Given the description of an element on the screen output the (x, y) to click on. 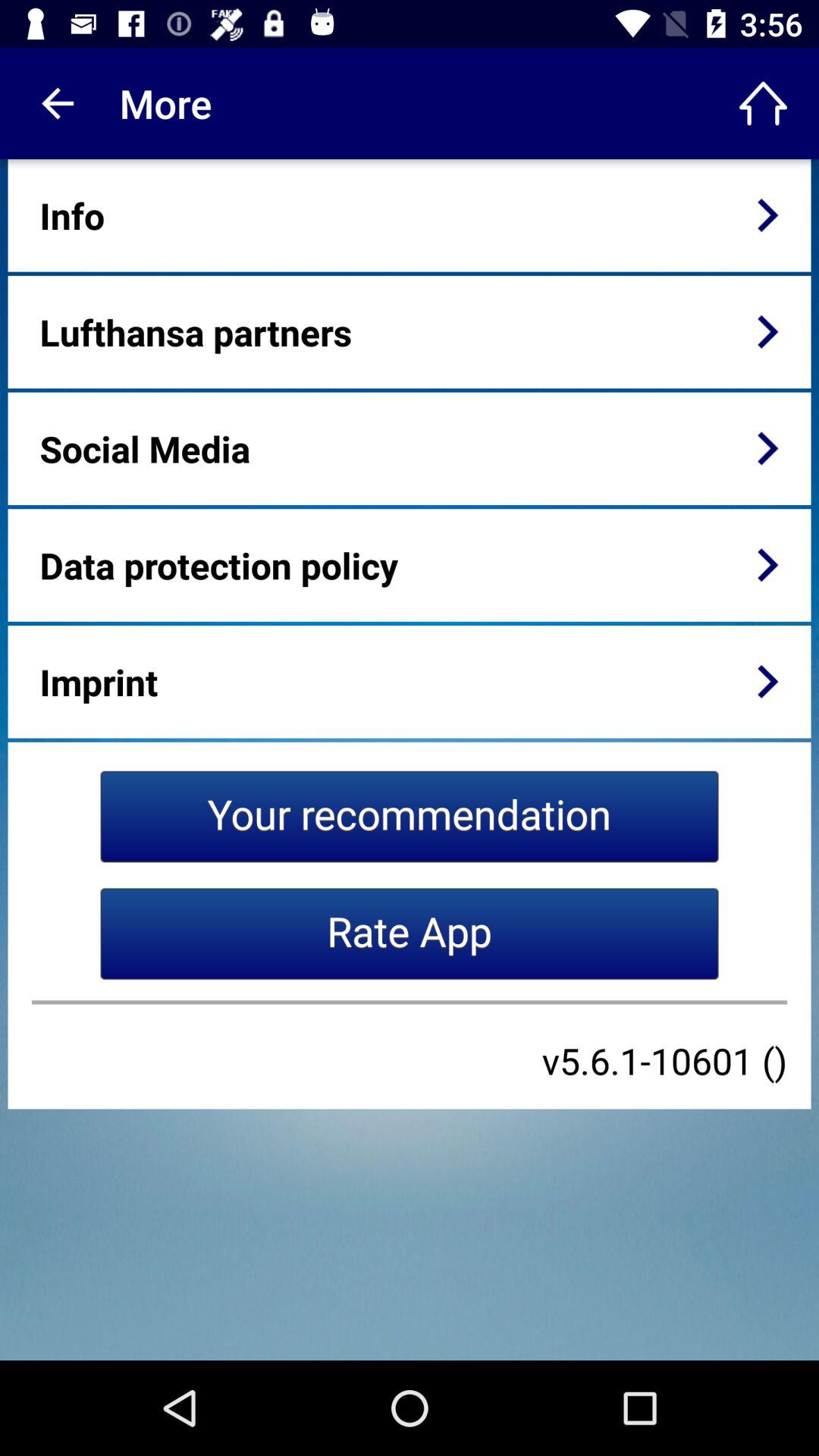
press icon to the right of the more icon (763, 103)
